Given the description of an element on the screen output the (x, y) to click on. 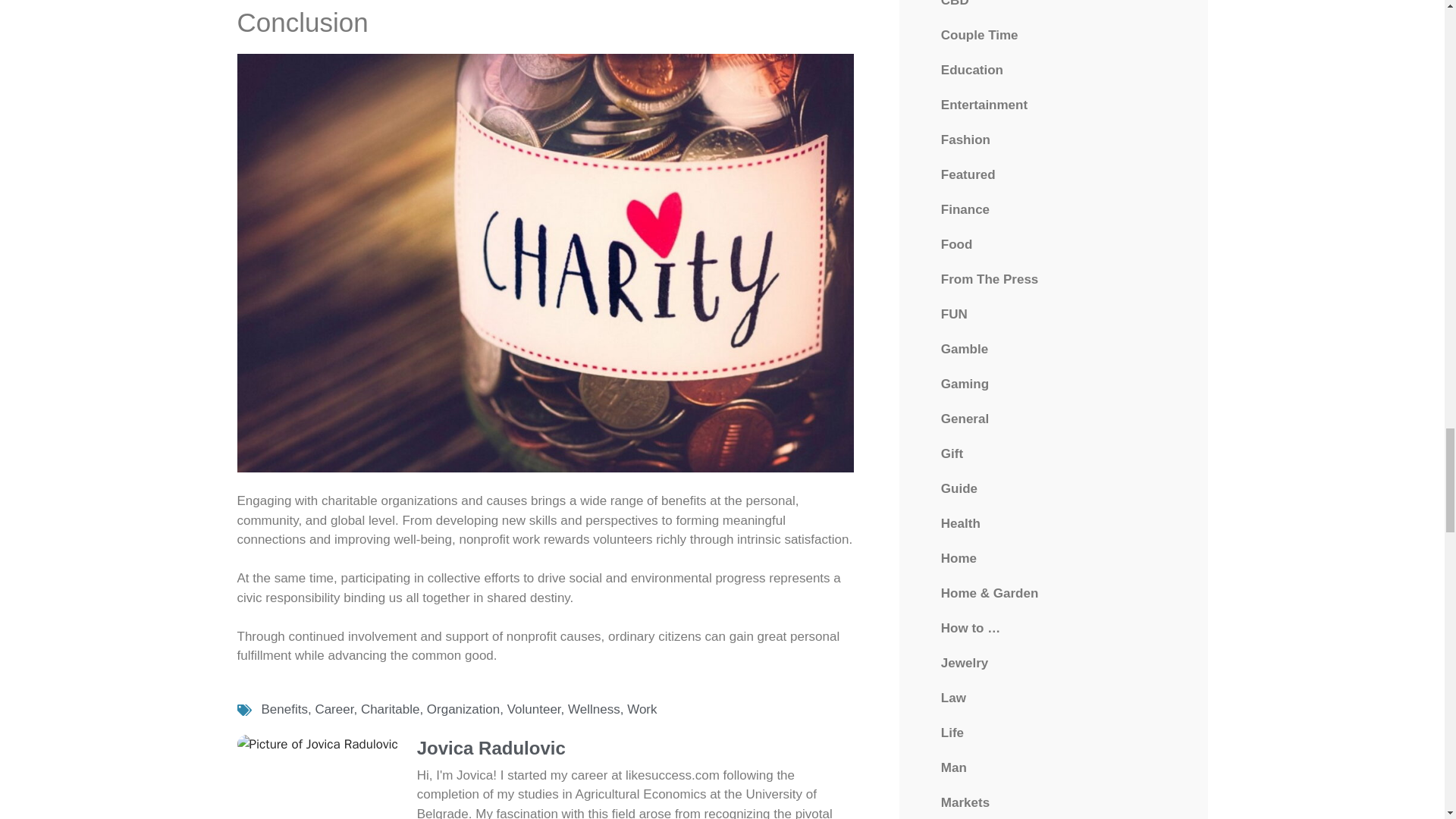
Work (641, 708)
Career (333, 708)
Organization (462, 708)
Wellness (593, 708)
Volunteer (533, 708)
Benefits (283, 708)
Charitable (390, 708)
